Given the description of an element on the screen output the (x, y) to click on. 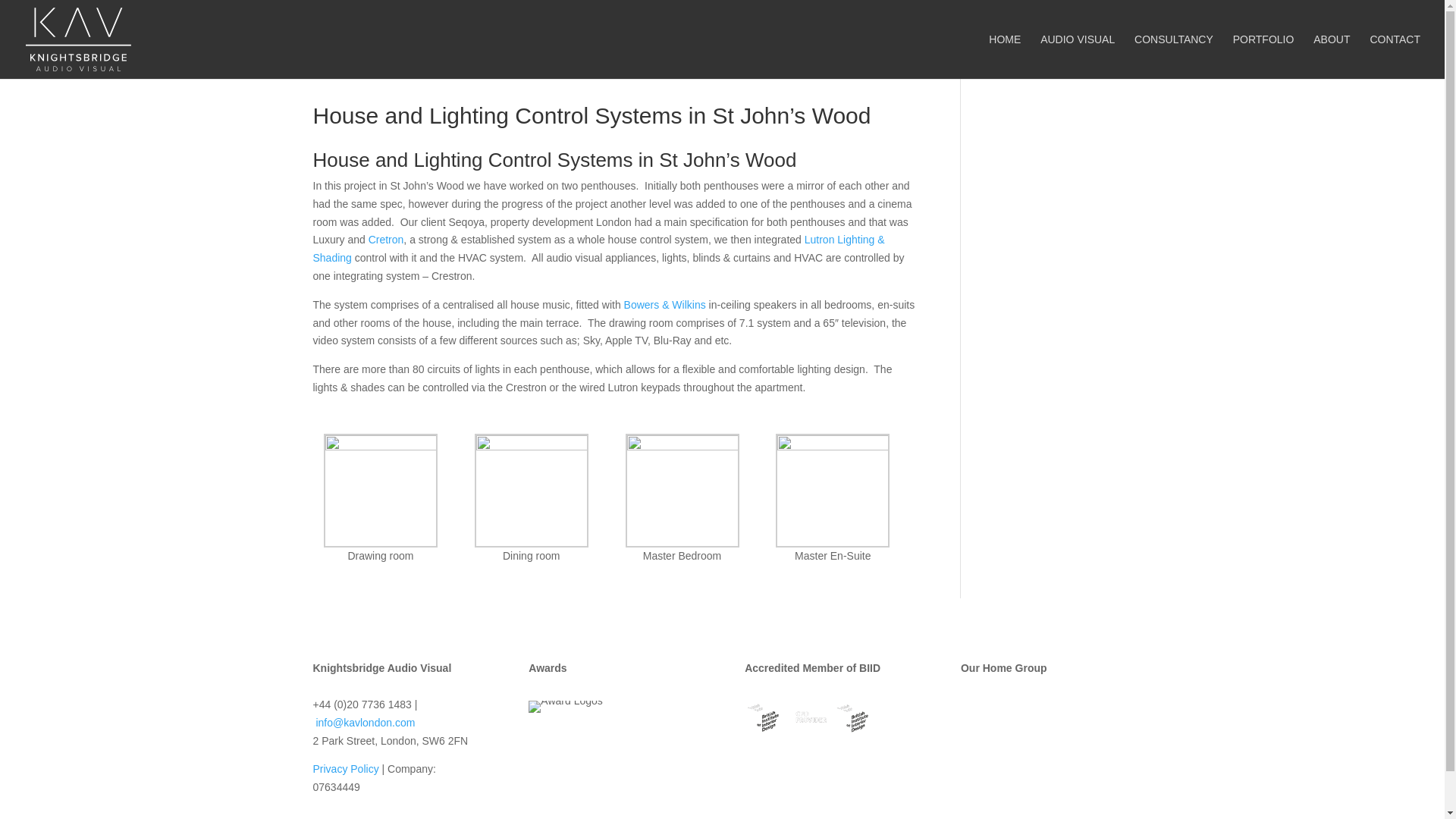
KAV Interiors (1045, 741)
Crestron (386, 239)
Privacy Policy (345, 768)
Bowers and Wilkins Speakers (665, 304)
Lighting Control (598, 248)
PORTFOLIO (1263, 56)
Award Logos (565, 706)
CONTACT (1395, 56)
CONSULTANCY (1173, 56)
AUDIO VISUAL (1078, 56)
